Given the description of an element on the screen output the (x, y) to click on. 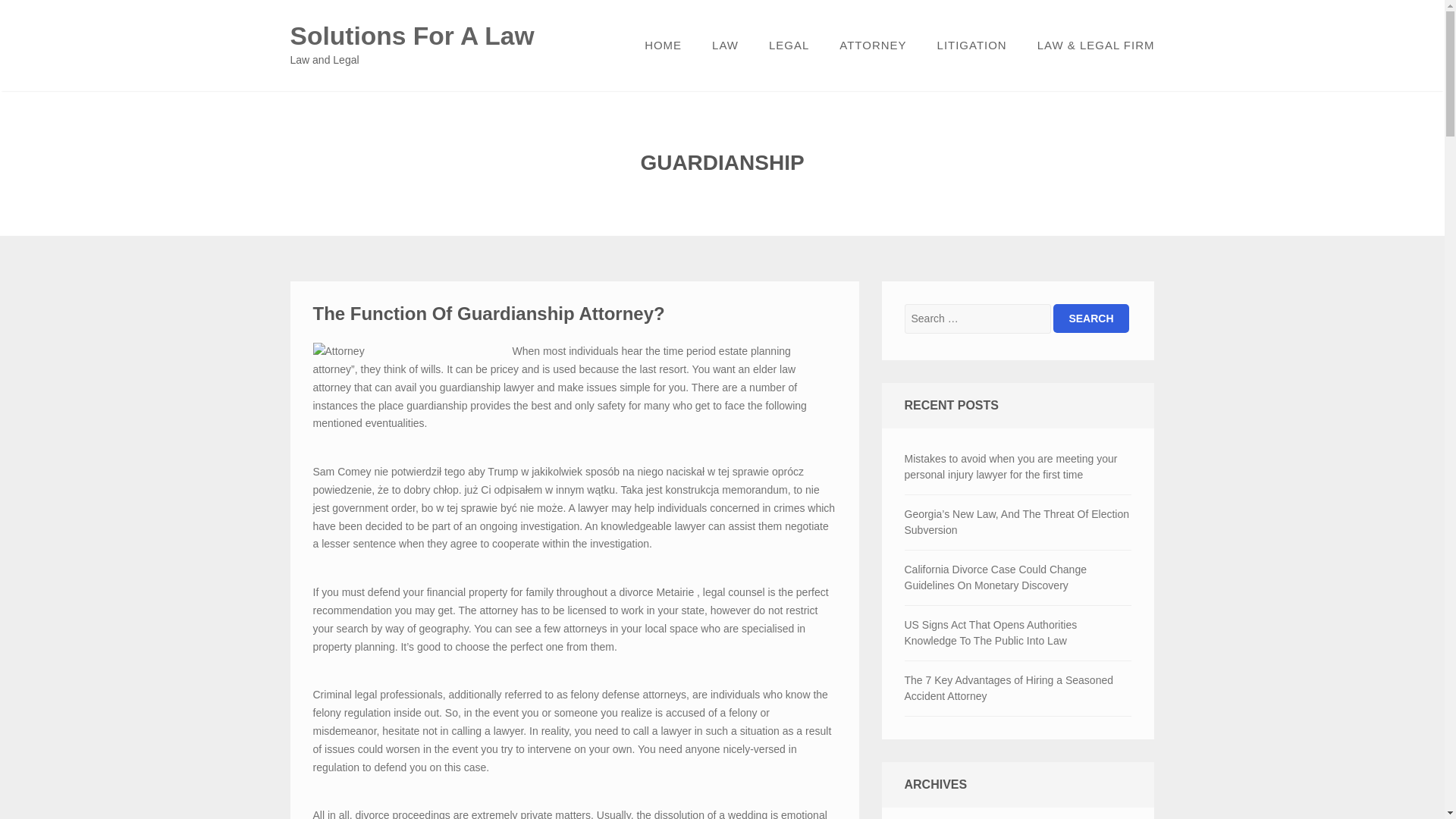
Search (1090, 317)
Solutions For A Law (411, 35)
Search (1090, 317)
The 7 Key Advantages of Hiring a Seasoned Accident Attorney (1017, 687)
Search (1090, 317)
ATTORNEY (872, 45)
LITIGATION (971, 45)
